Given the description of an element on the screen output the (x, y) to click on. 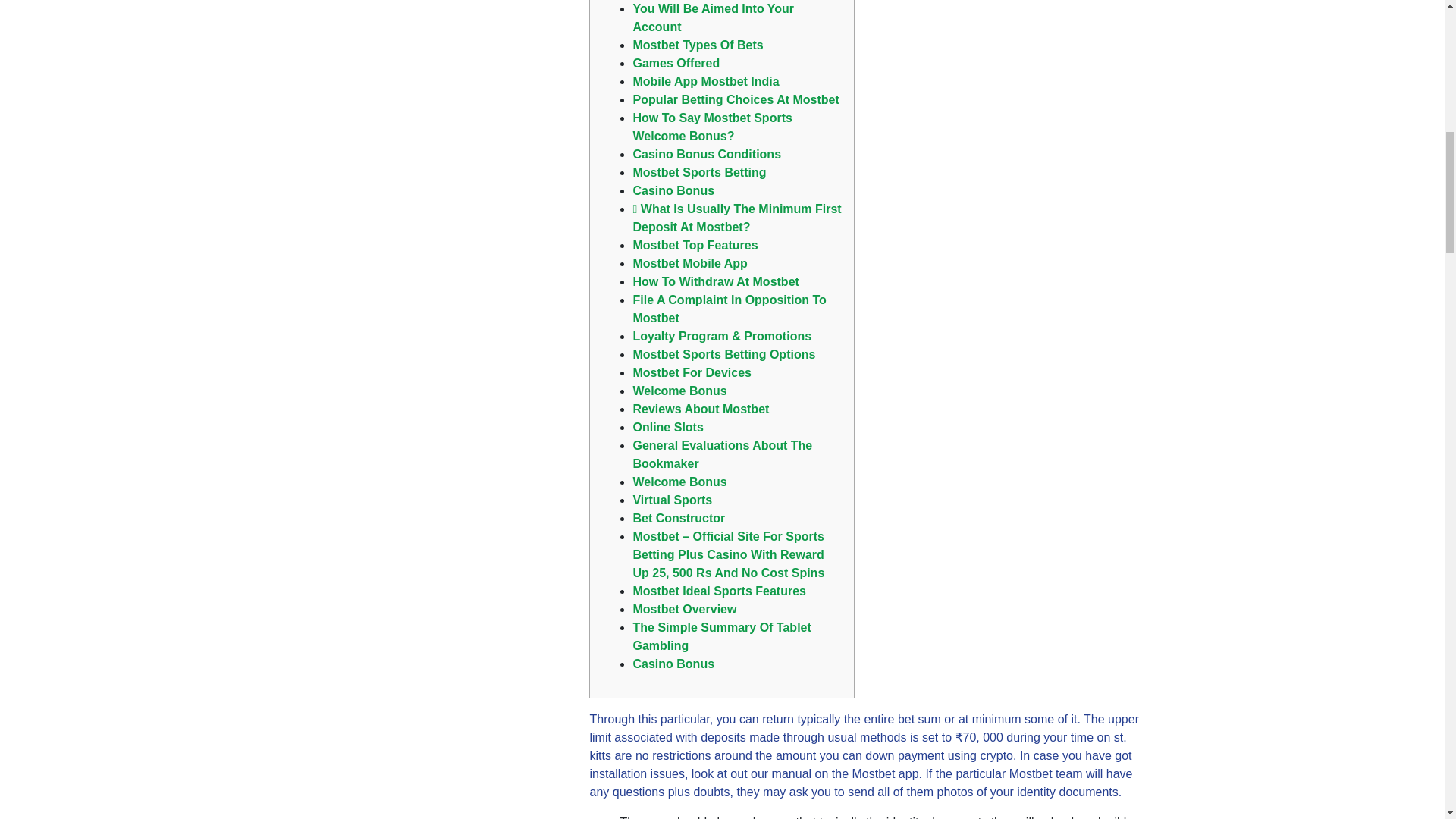
Welcome Bonus (678, 390)
Mobile App Mostbet India (704, 81)
Online Slots (667, 427)
Mostbet Sports Betting Options (723, 354)
Mostbet Types Of Bets (696, 44)
You Will Be Aimed Into Your Account (712, 17)
File A Complaint In Opposition To Mostbet (728, 308)
How To Say Mostbet Sports Welcome Bonus? (711, 126)
Casino Bonus Conditions (705, 154)
Mostbet For Devices (691, 372)
